Given the description of an element on the screen output the (x, y) to click on. 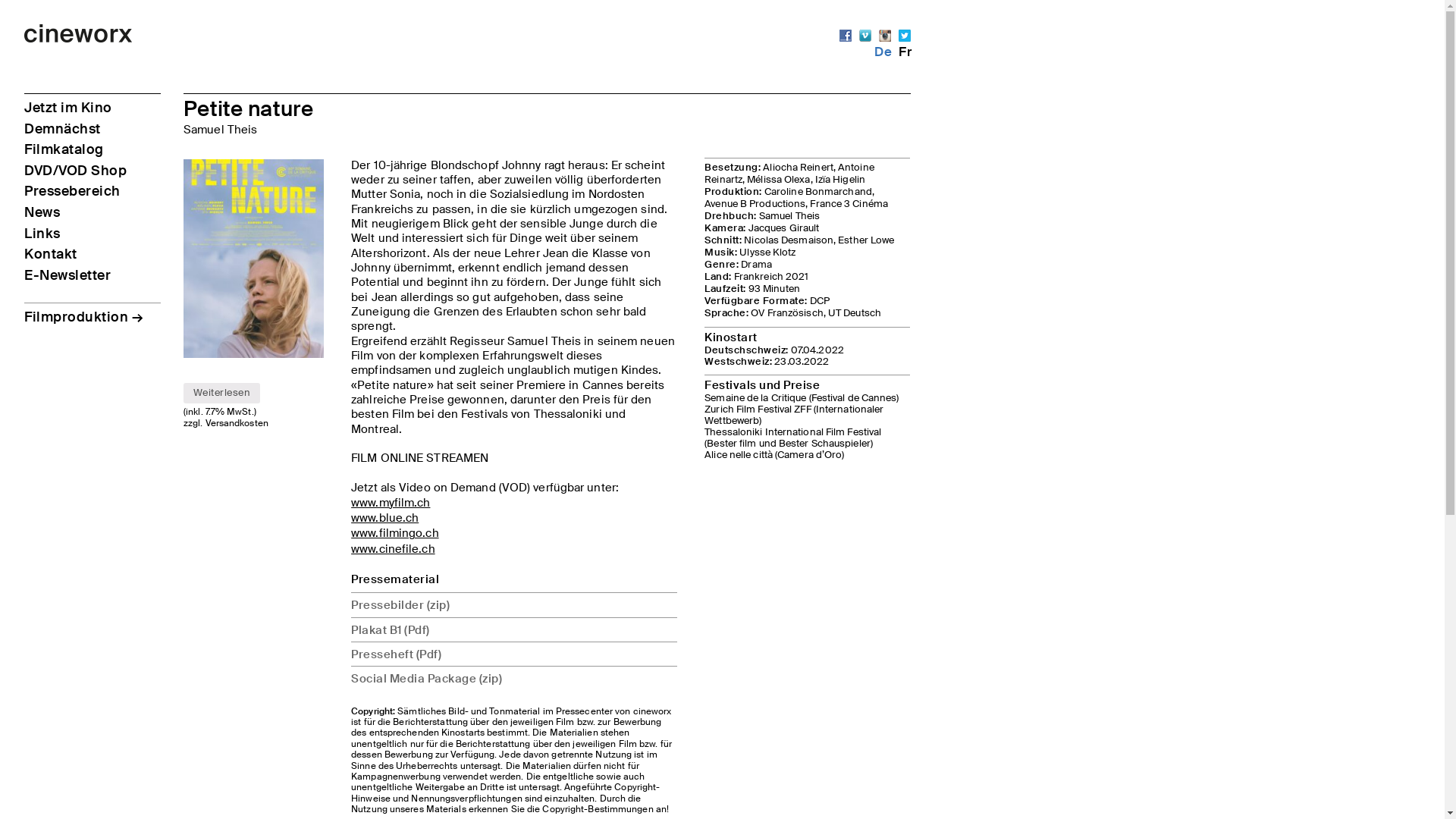
Fr Element type: text (904, 51)
Pressebereich Element type: text (72, 190)
E-Newsletter Element type: text (67, 274)
Weiterlesen Element type: text (221, 393)
www.cinefile.ch Element type: text (393, 548)
www.filmingo.ch Element type: text (395, 532)
Pressematerial Element type: text (395, 578)
Jetzt im Kino Element type: text (68, 107)
Presseheft (Pdf) Element type: text (514, 653)
Skip to content Element type: text (24, 24)
News Element type: text (41, 211)
Plakat B1 (Pdf) Element type: text (514, 629)
 Facebook Element type: hover (845, 35)
 Instagram Element type: hover (884, 35)
cineworx Element type: text (79, 38)
www.blue.ch Element type: text (384, 517)
Kontakt Element type: text (50, 253)
Filmkatalog Element type: text (63, 149)
Social Media Package (zip) Element type: text (514, 677)
 Vimeo Element type: hover (865, 35)
www.myfilm.ch Element type: text (390, 501)
Pressebilder (zip) Element type: text (514, 604)
Links Element type: text (42, 233)
DVD/VOD Shop Element type: text (75, 170)
De Element type: text (882, 51)
 Twitter Element type: hover (904, 35)
